Given the description of an element on the screen output the (x, y) to click on. 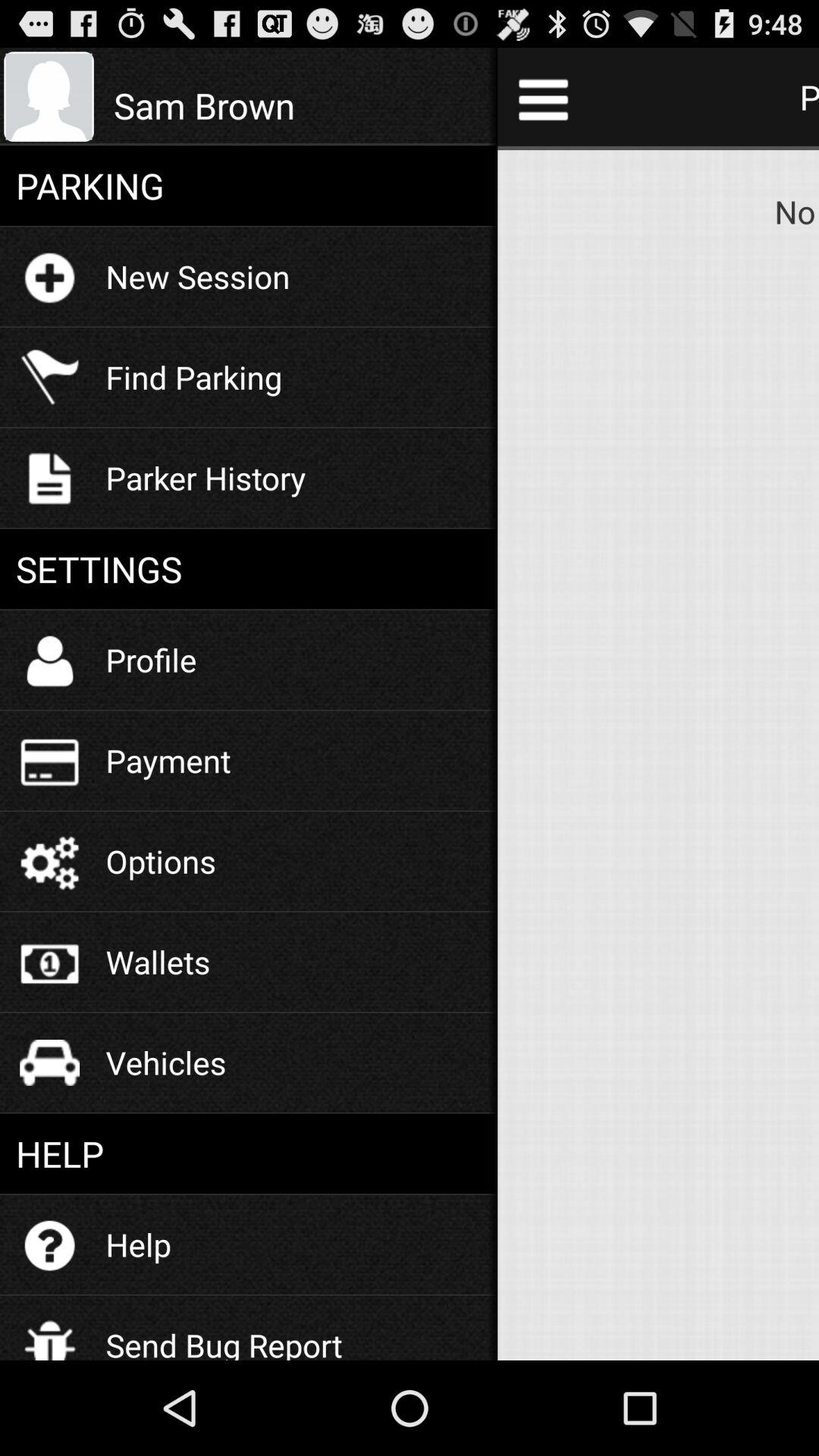
launch the icon below settings item (150, 659)
